Given the description of an element on the screen output the (x, y) to click on. 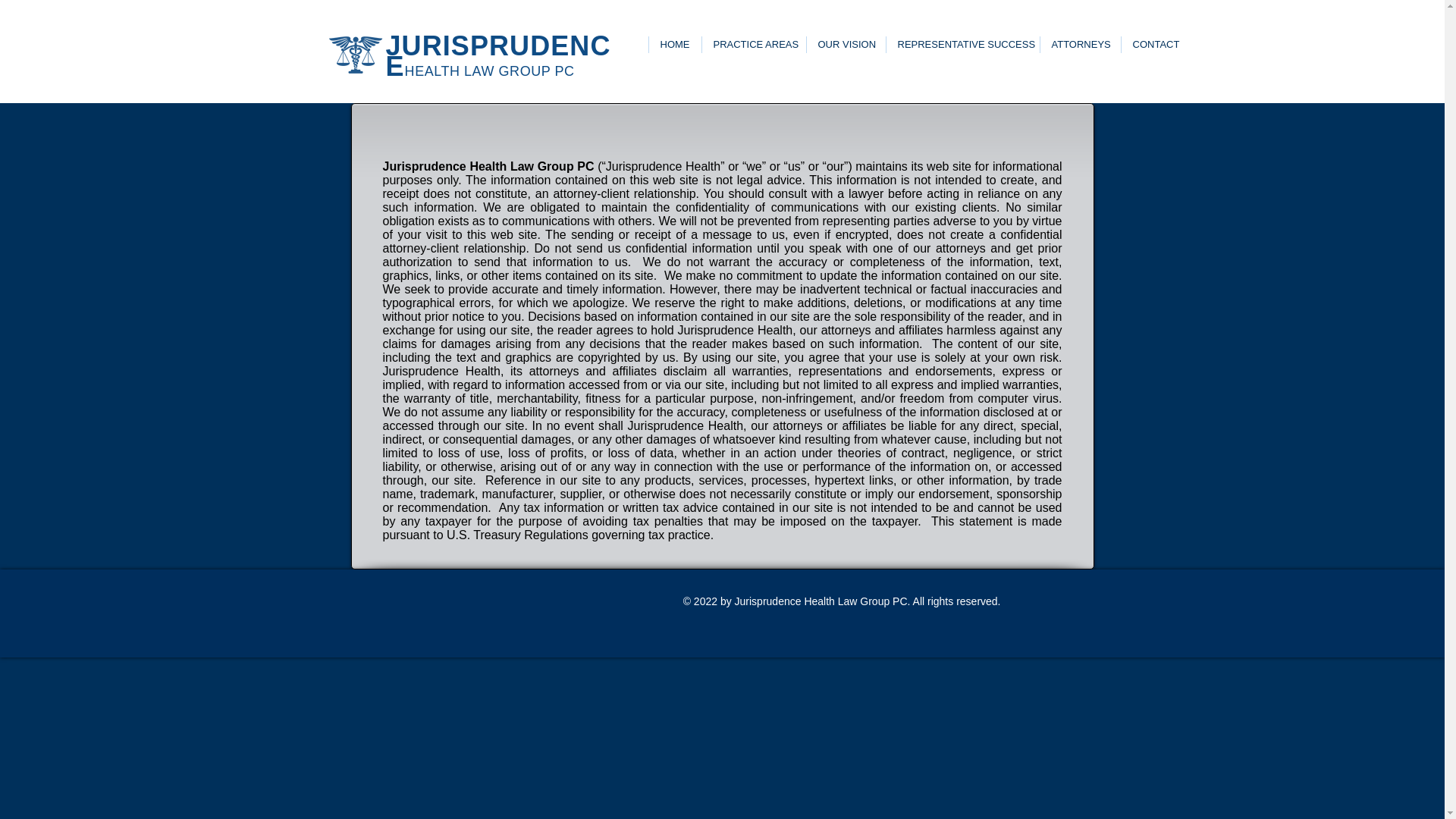
JURISPRUDENCE (497, 55)
OUR VISION (845, 44)
ATTORNEYS (1079, 44)
REPRESENTATIVE SUCCESS (962, 44)
HEALTH LAW GROUP PC (489, 70)
CONTACT (1156, 44)
PRACTICE AREAS (752, 44)
HOME (673, 44)
